Given the description of an element on the screen output the (x, y) to click on. 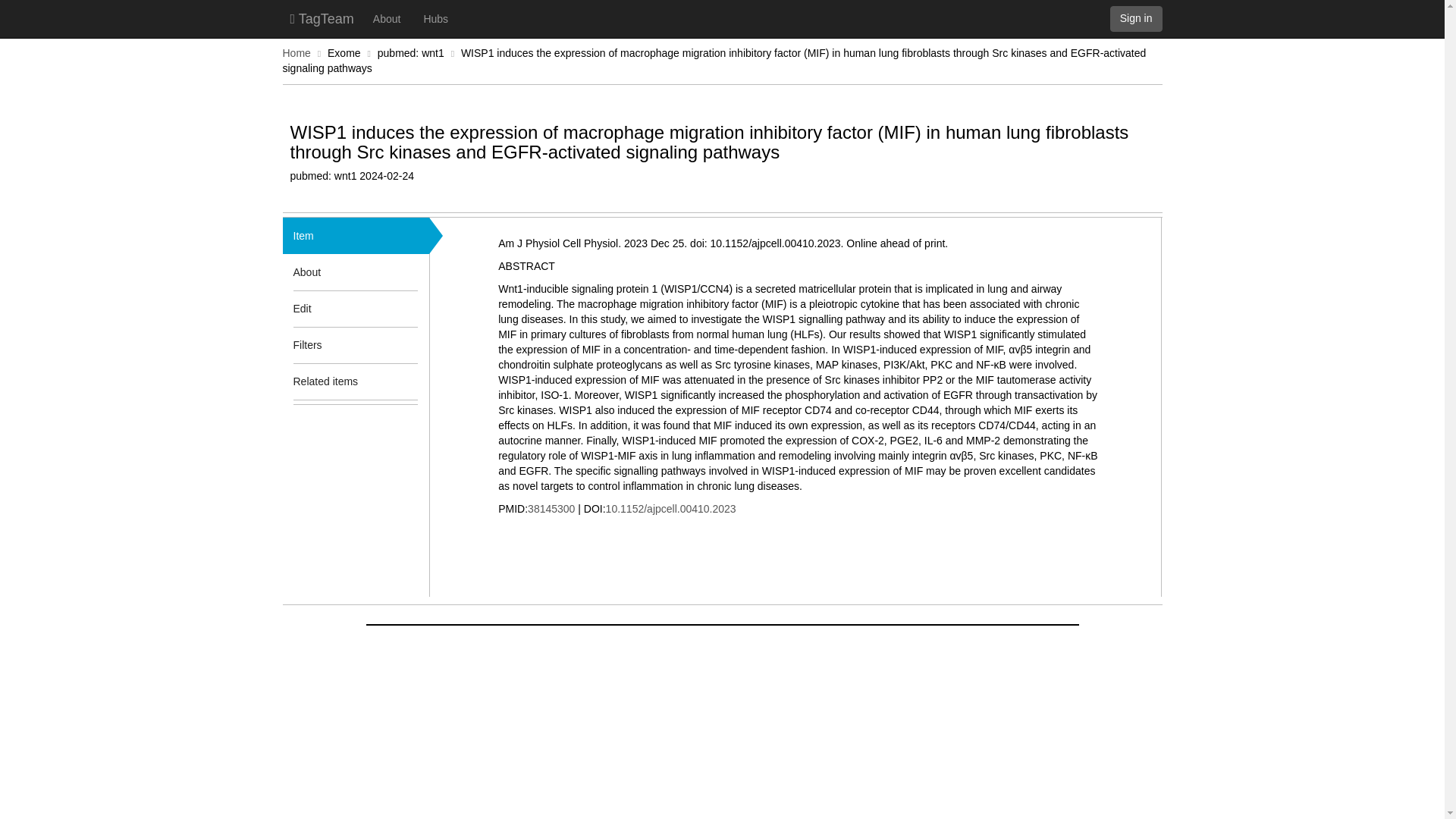
Home (296, 52)
Hubs (436, 18)
About (333, 271)
Filters (333, 344)
Item (302, 235)
About (386, 18)
Items related to this feed item (407, 381)
Exome (344, 52)
About a feed item (407, 271)
Item-level tag filters (407, 344)
pubmed: wnt1 (410, 52)
TagTeam (321, 18)
Sign in (1135, 18)
Related items (333, 381)
38145300 (551, 508)
